Given the description of an element on the screen output the (x, y) to click on. 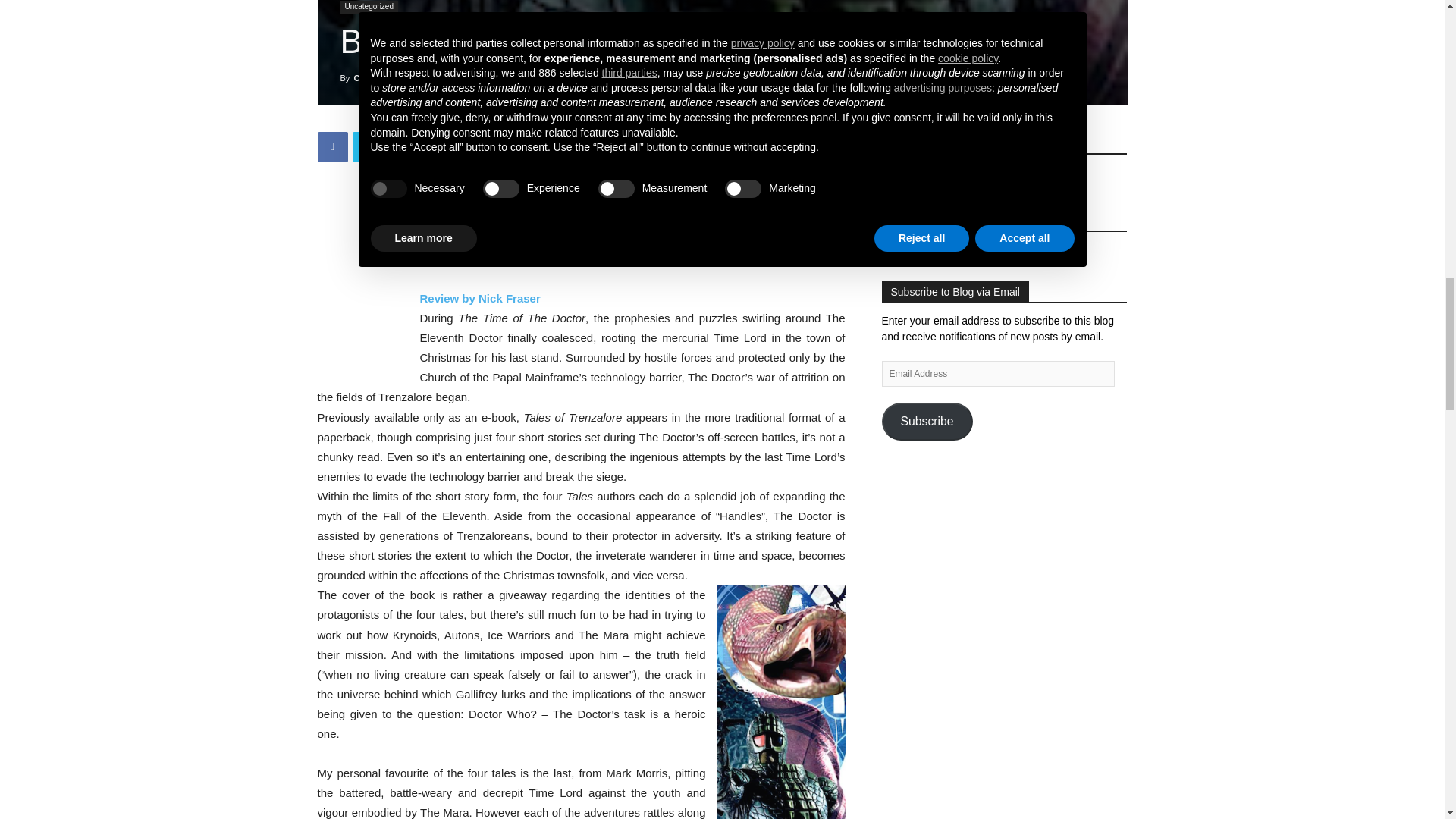
Twitter (366, 146)
Uncategorized (368, 6)
WhatsApp (436, 146)
Review by Nick Fraser (480, 297)
Screen-Shot-2014-07-11-at-12.09.33 (721, 52)
Cameron K. McEwan (394, 77)
Facebook (332, 146)
Pinterest (401, 146)
